Given the description of an element on the screen output the (x, y) to click on. 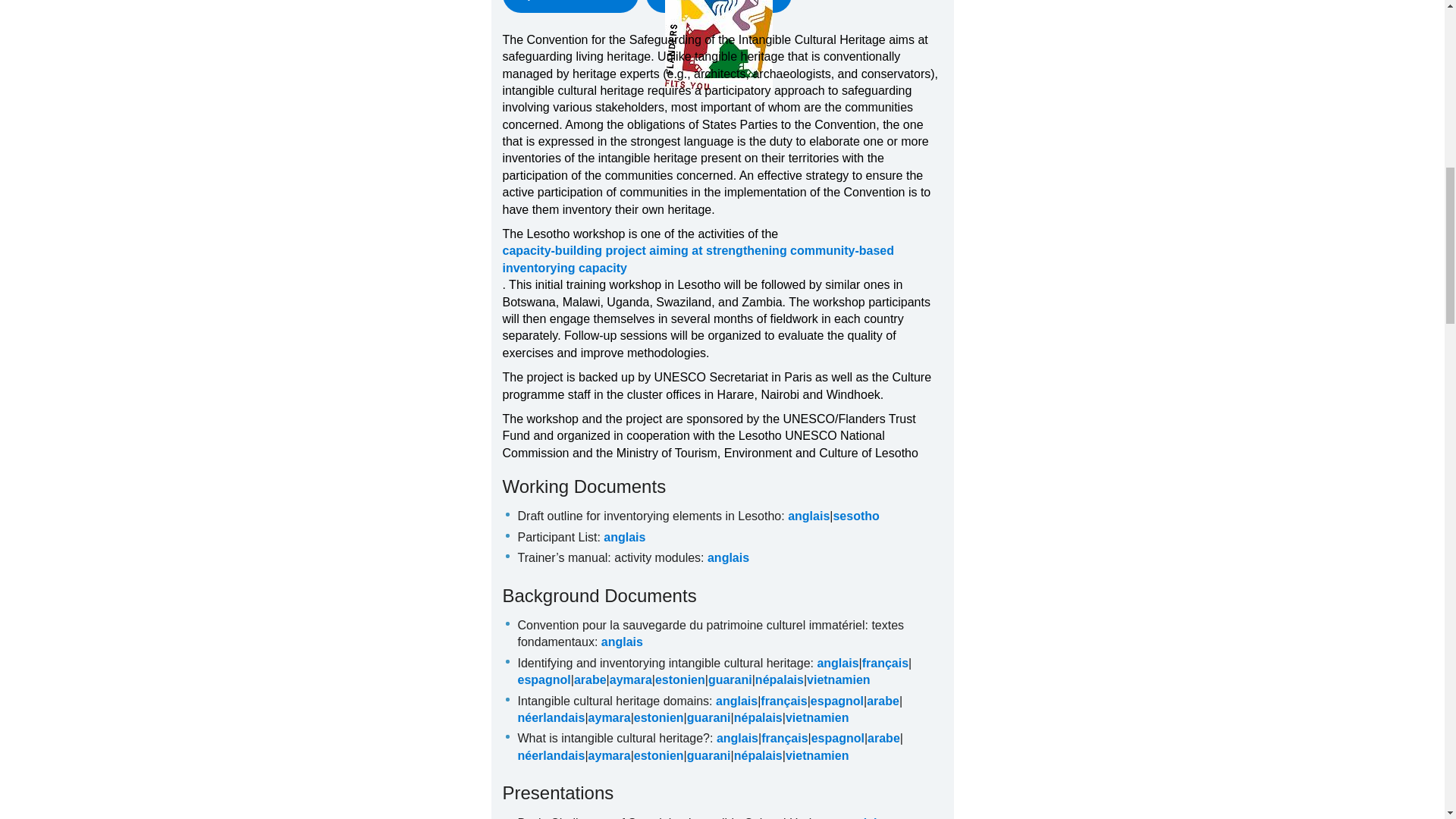
05772 (648, 515)
05771 (556, 536)
